Given the description of an element on the screen output the (x, y) to click on. 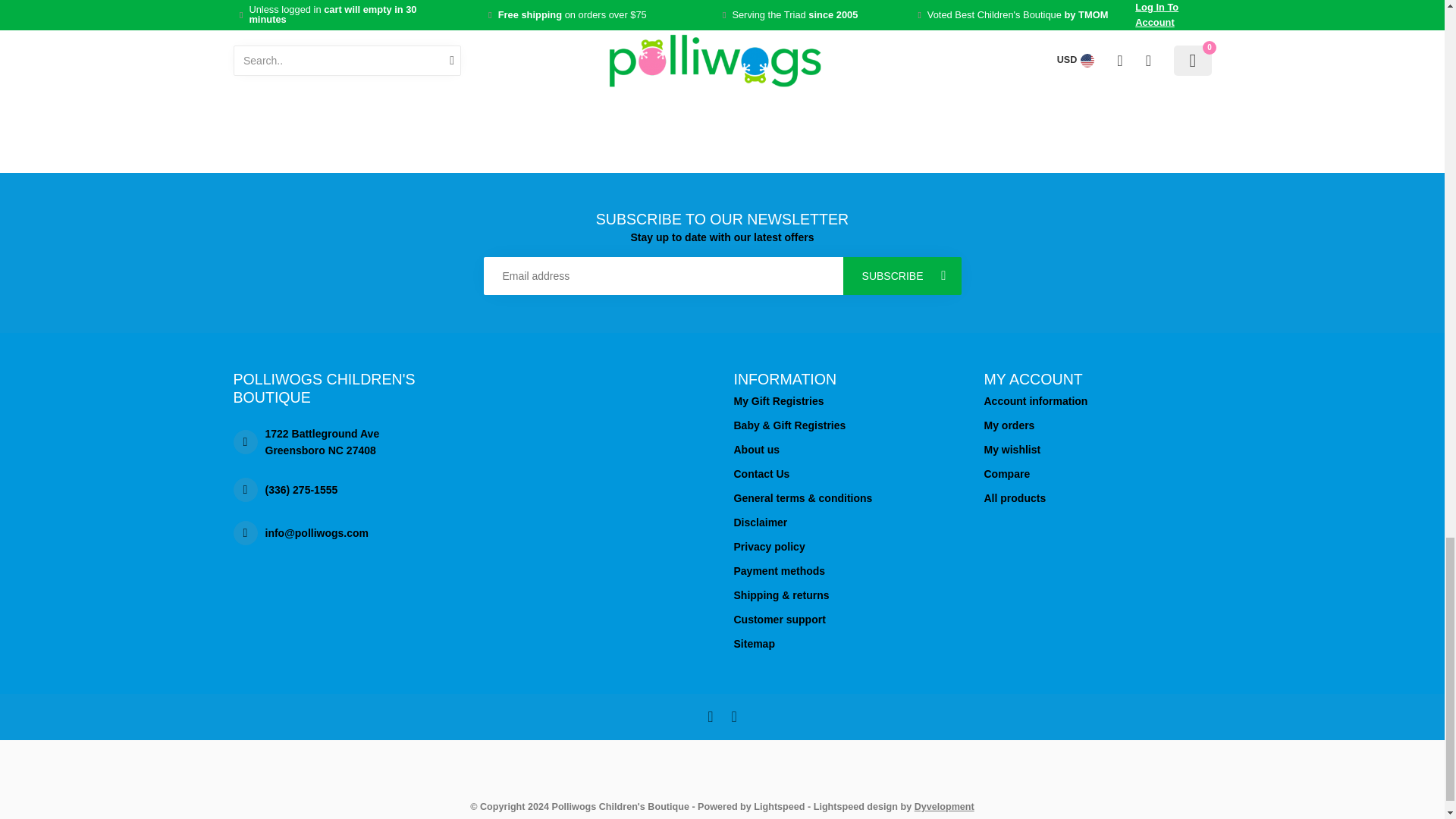
About us (846, 449)
Privacy policy (846, 546)
Payment methods (846, 570)
hachette book group In the Park Bingo Magnetic Game (346, 49)
Contact Us (846, 473)
Disclaimer (846, 522)
hachette book group In the Park Bingo Magnetic Game (346, 7)
My Gift Registries (846, 401)
